Given the description of an element on the screen output the (x, y) to click on. 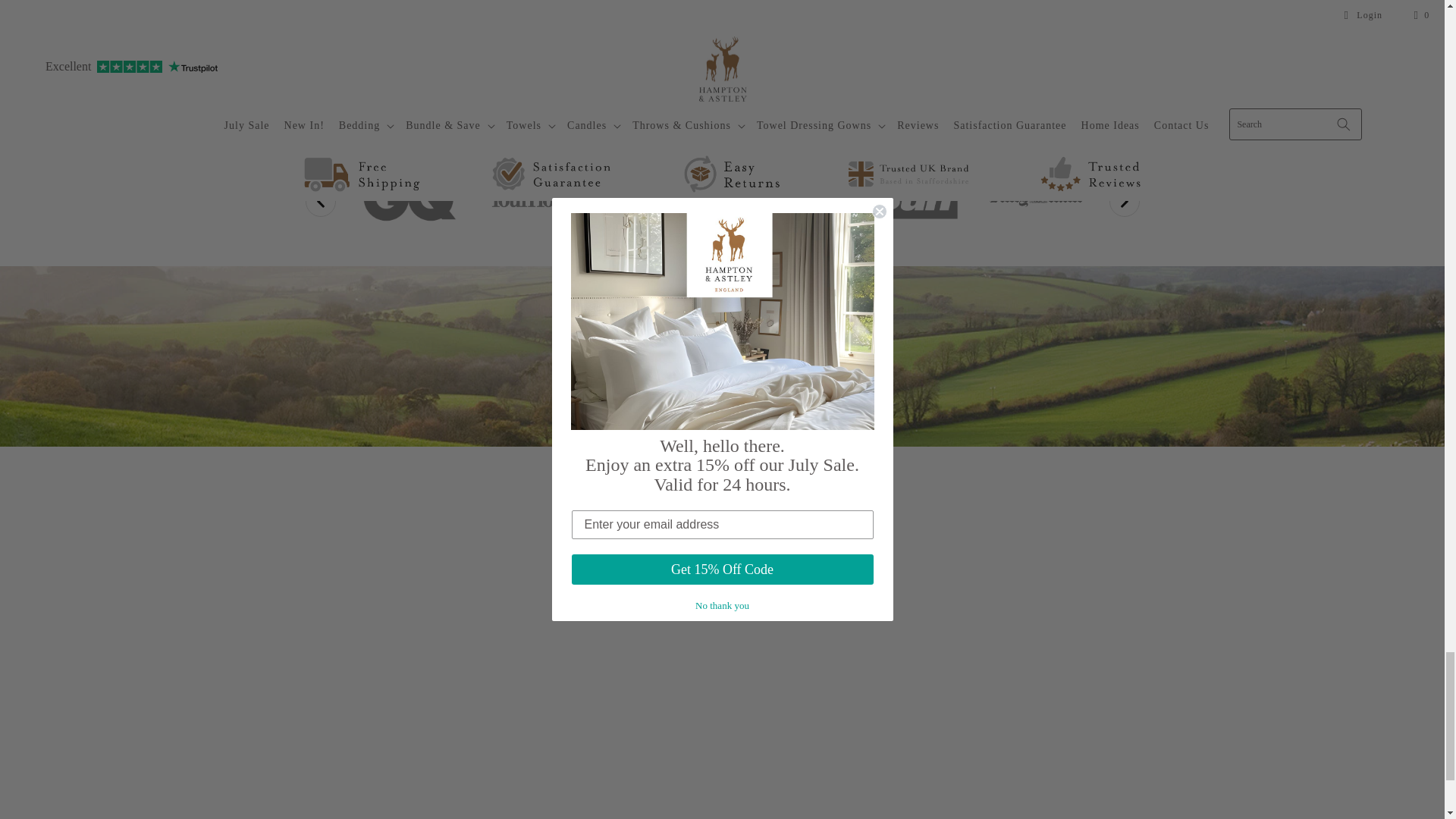
Sign Up (722, 399)
Offers and Launches (721, 325)
